Given the description of an element on the screen output the (x, y) to click on. 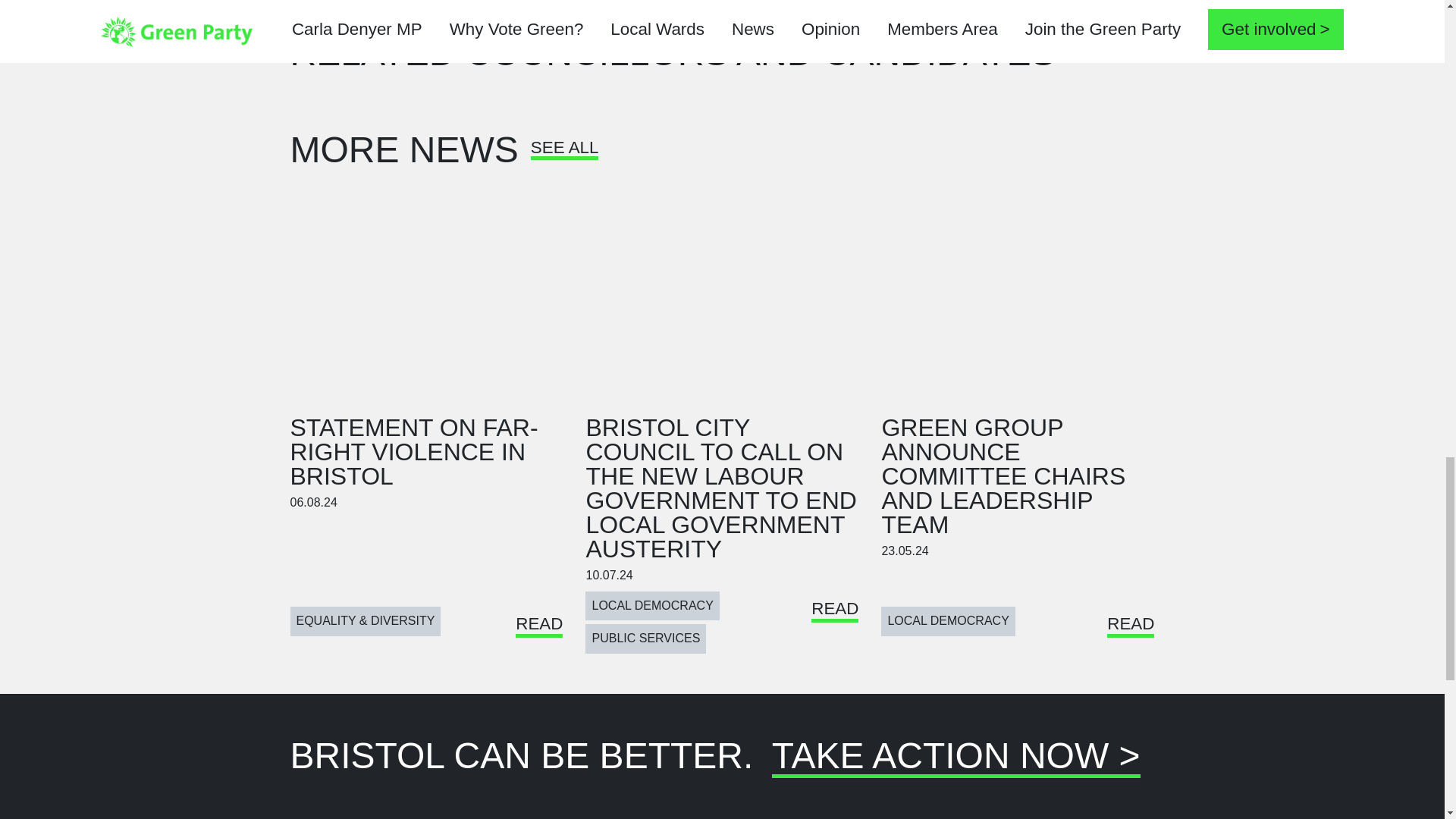
PUBLIC SERVICES (645, 638)
SEE ALL (564, 152)
LOCAL DEMOCRACY (652, 605)
LOCAL DEMOCRACY (947, 620)
